Given the description of an element on the screen output the (x, y) to click on. 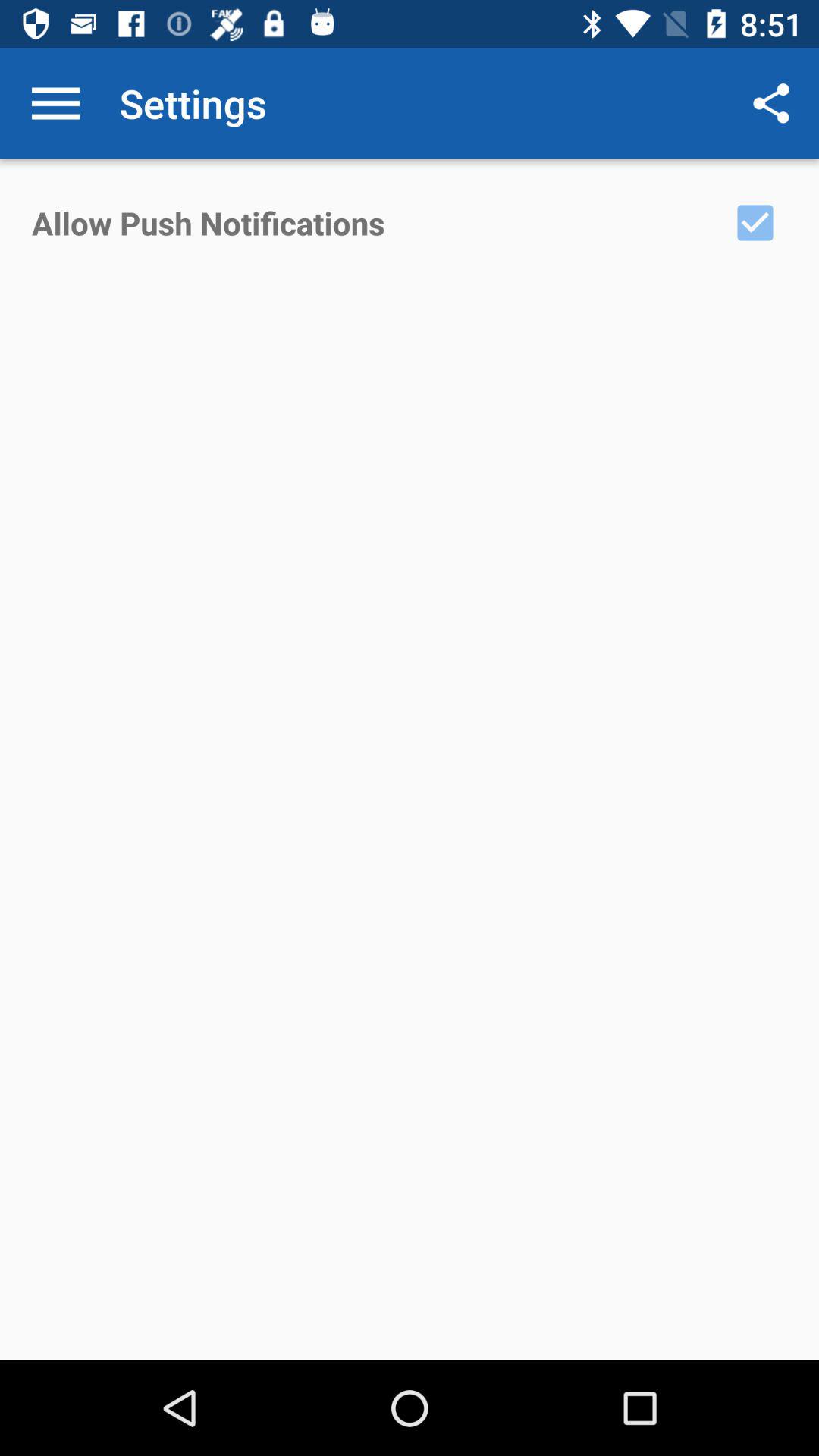
allow push notifications (755, 222)
